Given the description of an element on the screen output the (x, y) to click on. 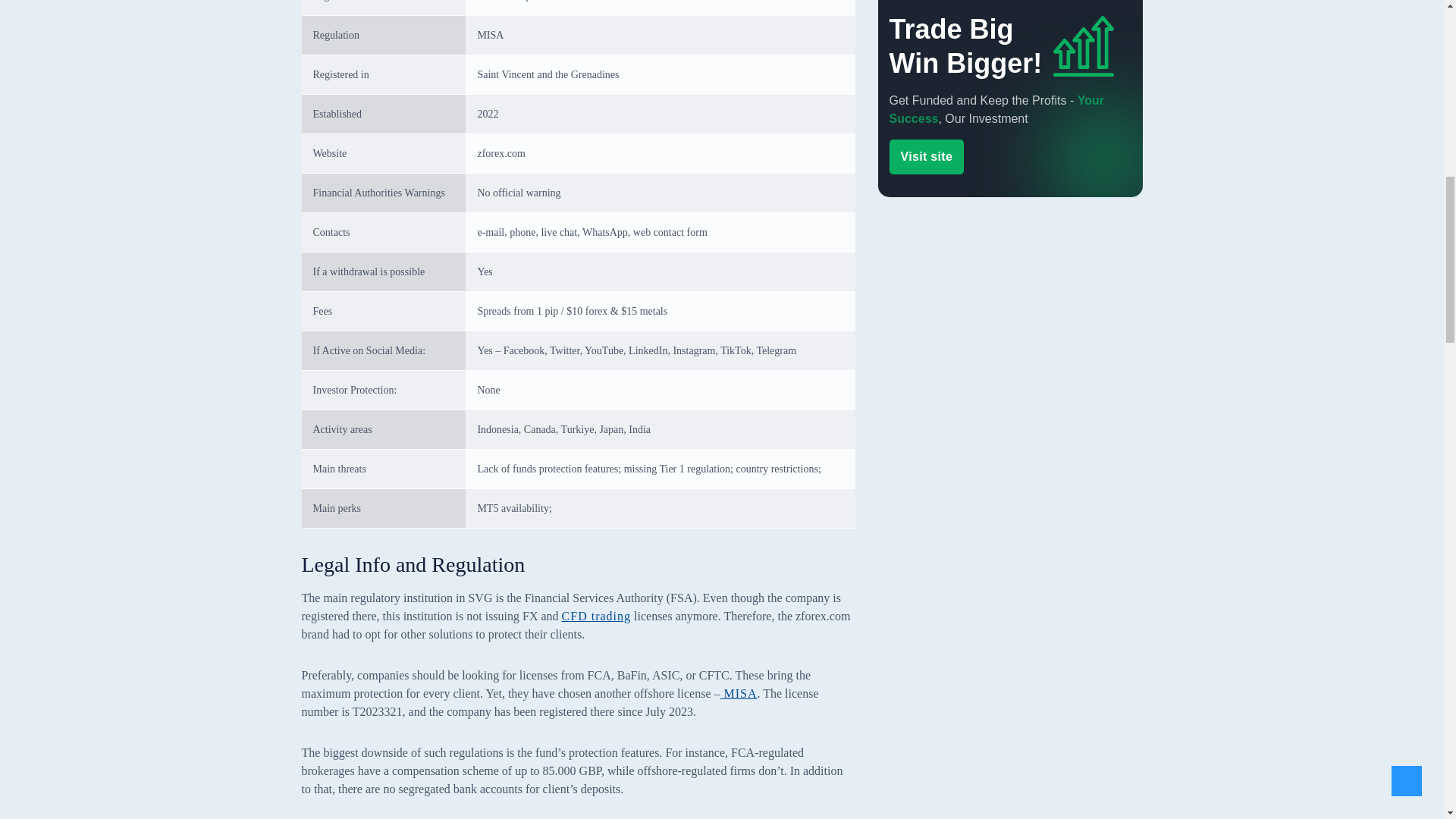
CFD trading (596, 615)
Visit site (925, 189)
MISA (738, 693)
